Given the description of an element on the screen output the (x, y) to click on. 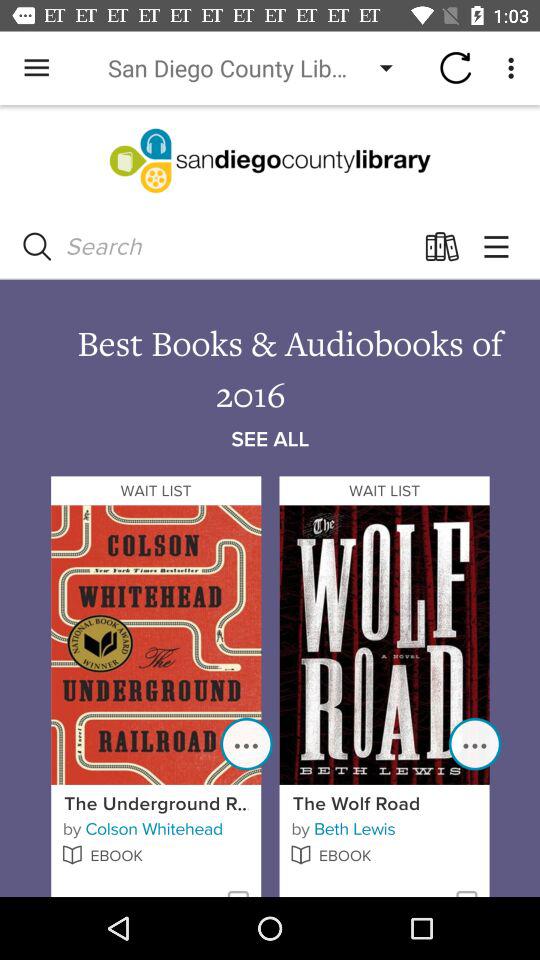
advertisement page (270, 501)
